Given the description of an element on the screen output the (x, y) to click on. 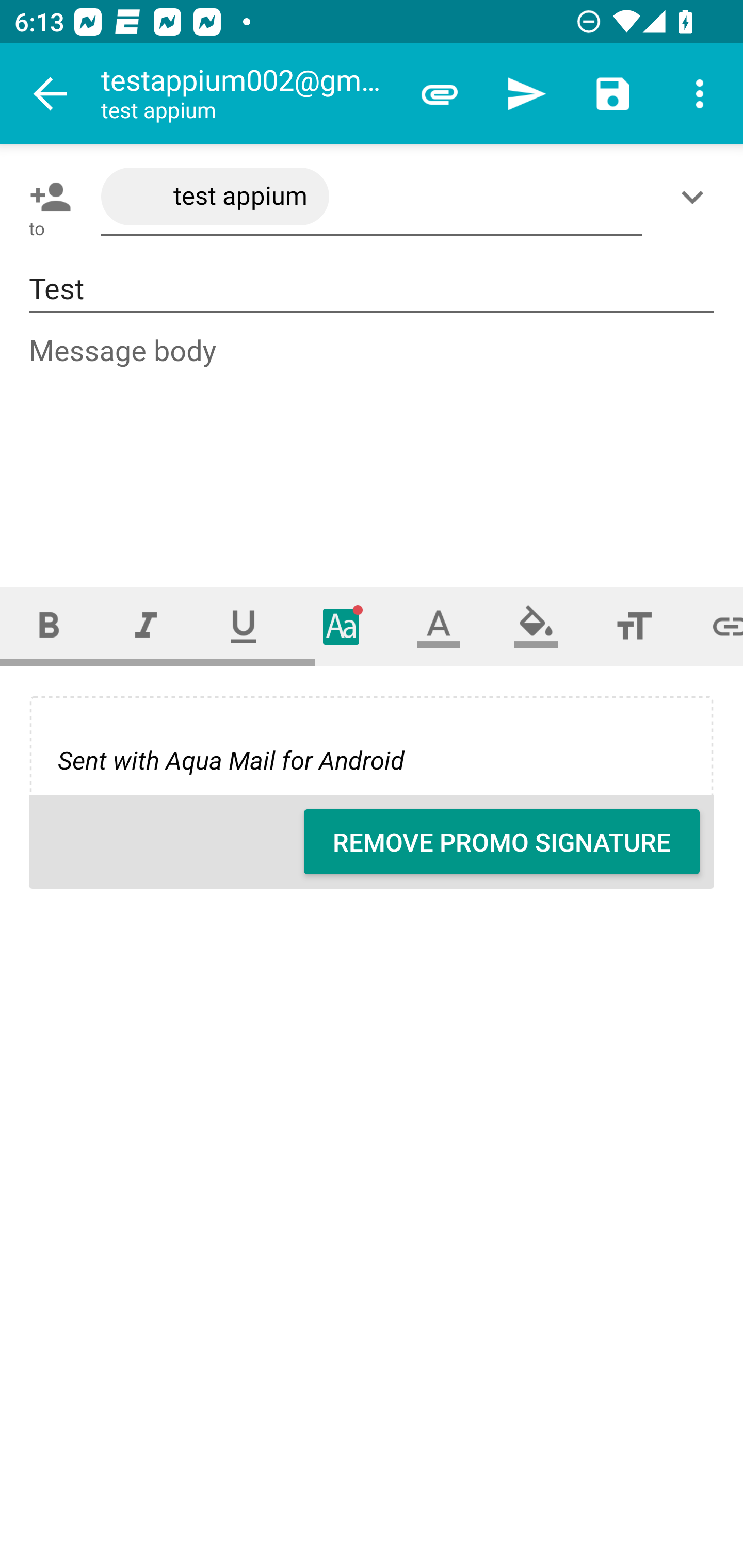
Navigate up (50, 93)
testappium002@gmail.com test appium (248, 93)
Attach (439, 93)
Send (525, 93)
Save (612, 93)
More options (699, 93)
test appium <testappium002@gmail.com>,  (371, 197)
Pick contact: To (46, 196)
Show/Add CC/BCC (696, 196)
Test (371, 288)
Message body (372, 442)
Bold (48, 626)
Italic (145, 626)
Underline (243, 626)
Typeface (font) (341, 626)
Text color (438, 626)
Fill color (536, 626)
Font size (633, 626)
REMOVE PROMO SIGNATURE (501, 841)
